Given the description of an element on the screen output the (x, y) to click on. 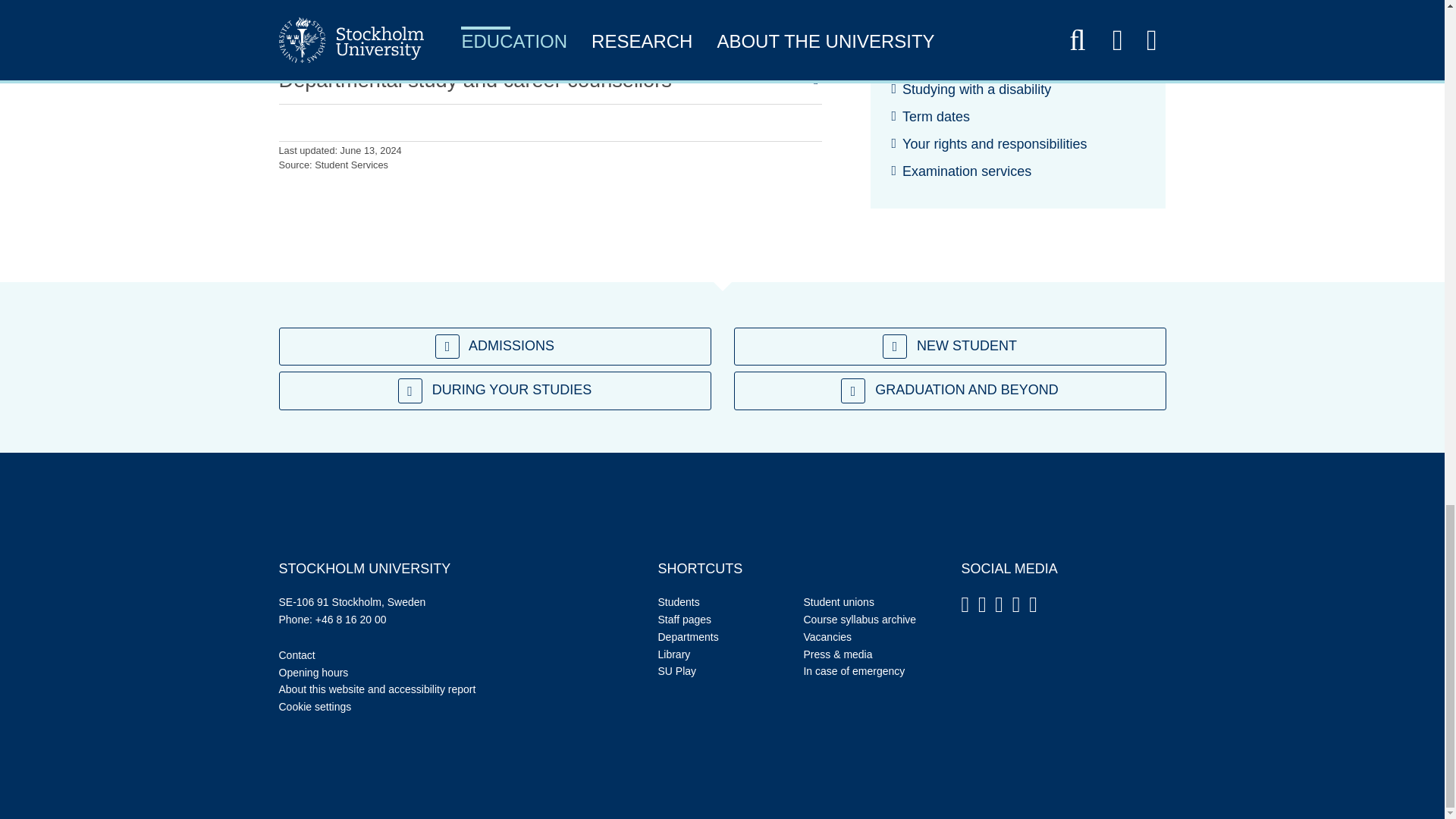
Review cookie settings (315, 706)
